Given the description of an element on the screen output the (x, y) to click on. 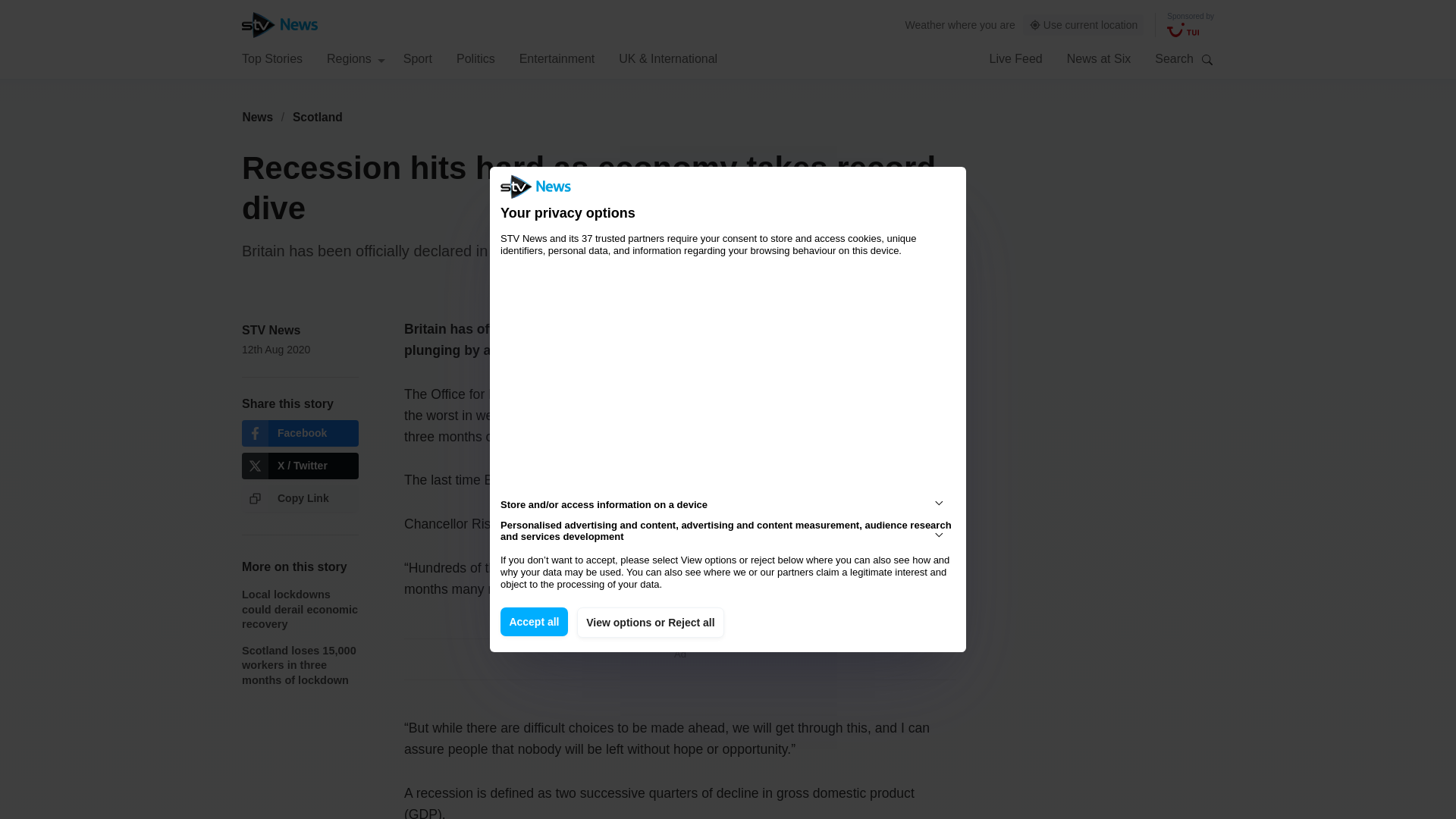
Politics (476, 57)
Top Stories (271, 57)
Regions (355, 57)
Scotland (317, 116)
Facebook (299, 433)
News (257, 116)
Search (1206, 59)
News at Six (1099, 57)
Use current location (1083, 25)
